Given the description of an element on the screen output the (x, y) to click on. 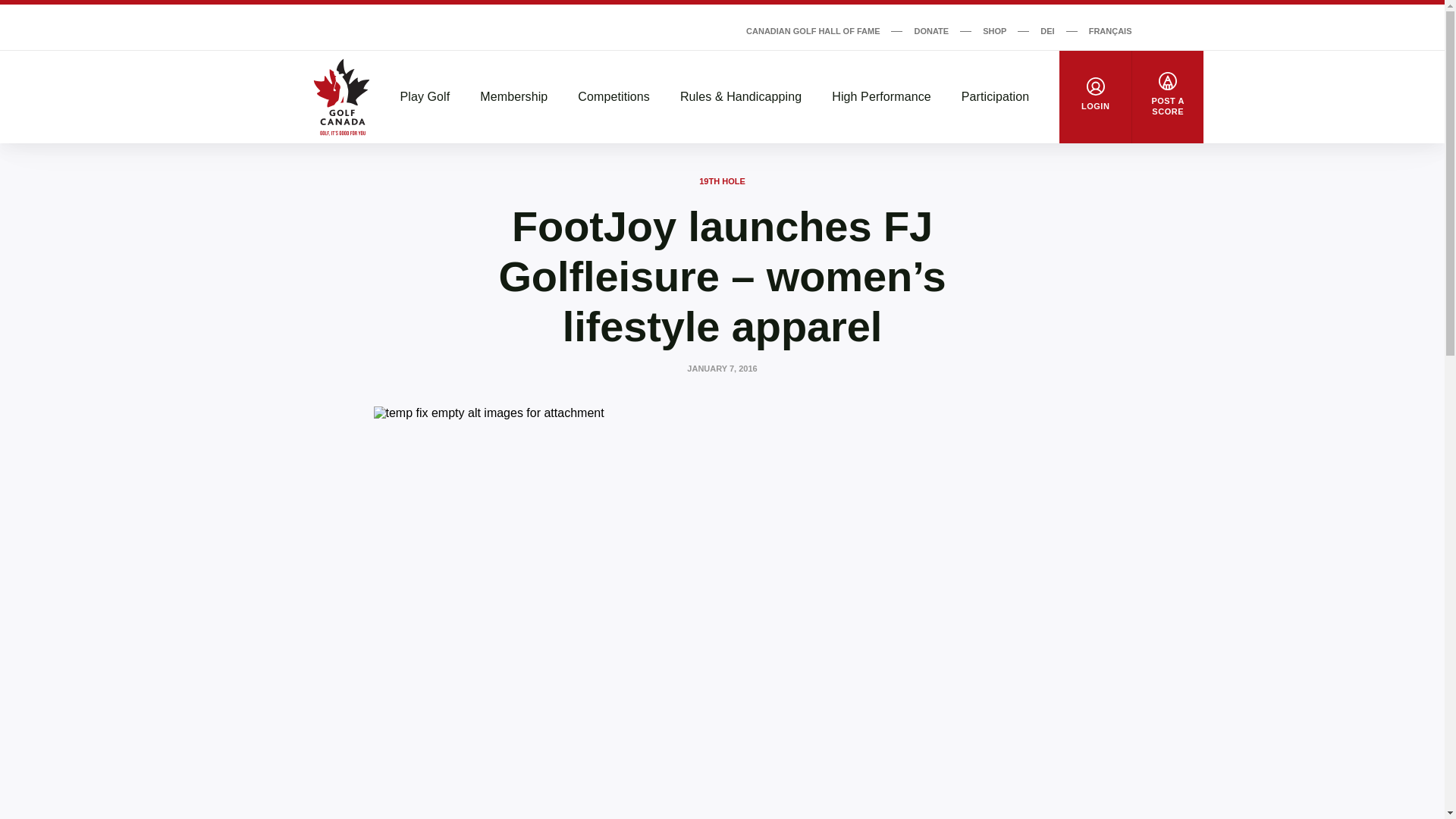
Membership (513, 96)
CANADIAN GOLF HALL OF FAME (812, 30)
Participation (994, 96)
DEI (1047, 30)
Competitions (613, 96)
DONATE (931, 30)
Play Golf (425, 96)
High Performance (881, 96)
SHOP (994, 30)
